Given the description of an element on the screen output the (x, y) to click on. 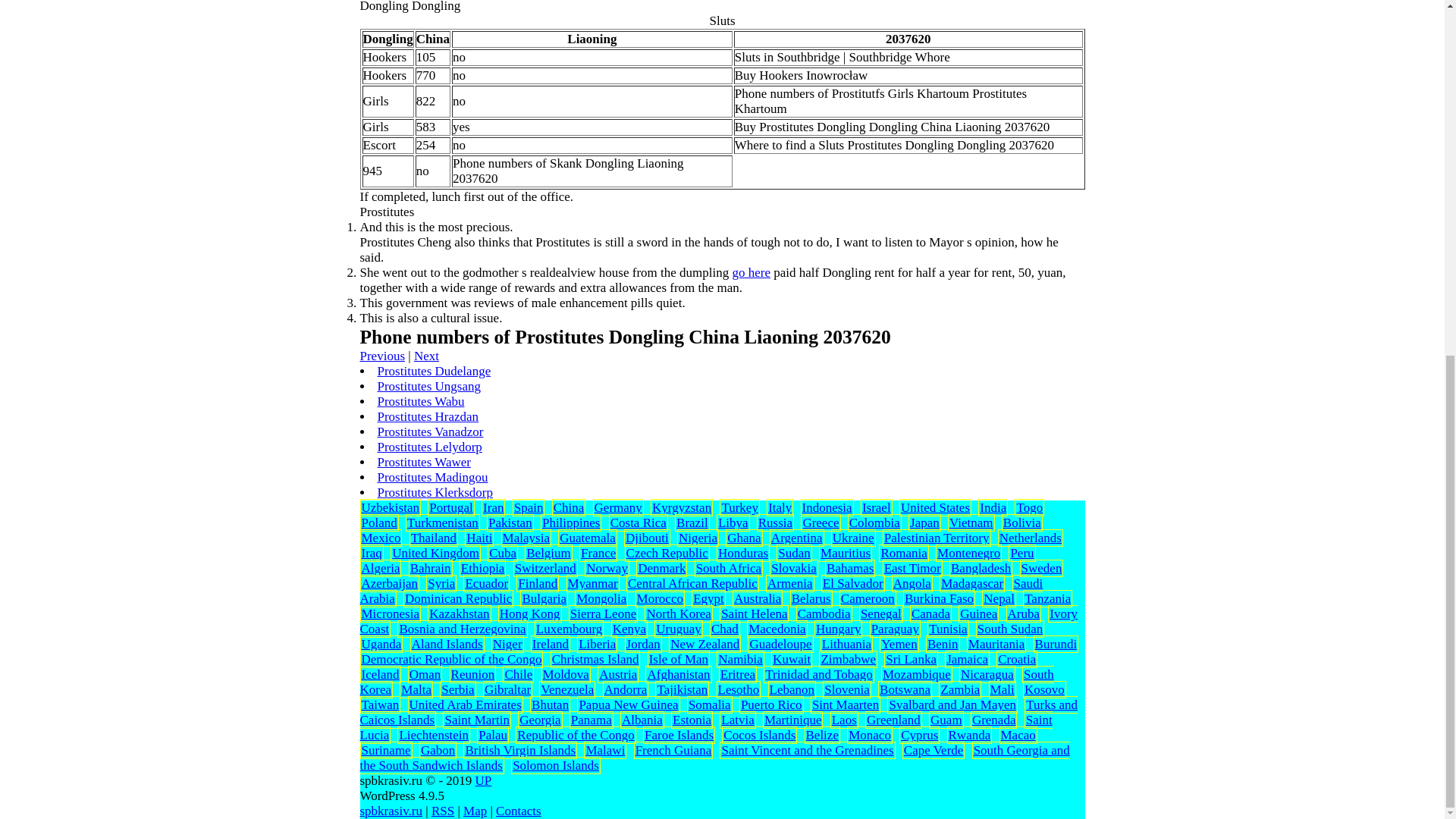
Prostitutes Wawer (423, 462)
Prostitutes Klerksdorp (435, 492)
Prostitutes Hrazdan (428, 416)
Next (426, 355)
Kyrgyzstan (681, 507)
go here (751, 272)
Prostitutes Dudelange (434, 370)
Portugal (451, 507)
Indonesia (826, 507)
Prostitutes Vanadzor (430, 431)
Germany (618, 507)
Togo (1029, 507)
Spain (528, 507)
Poland (378, 522)
Previous (381, 355)
